Given the description of an element on the screen output the (x, y) to click on. 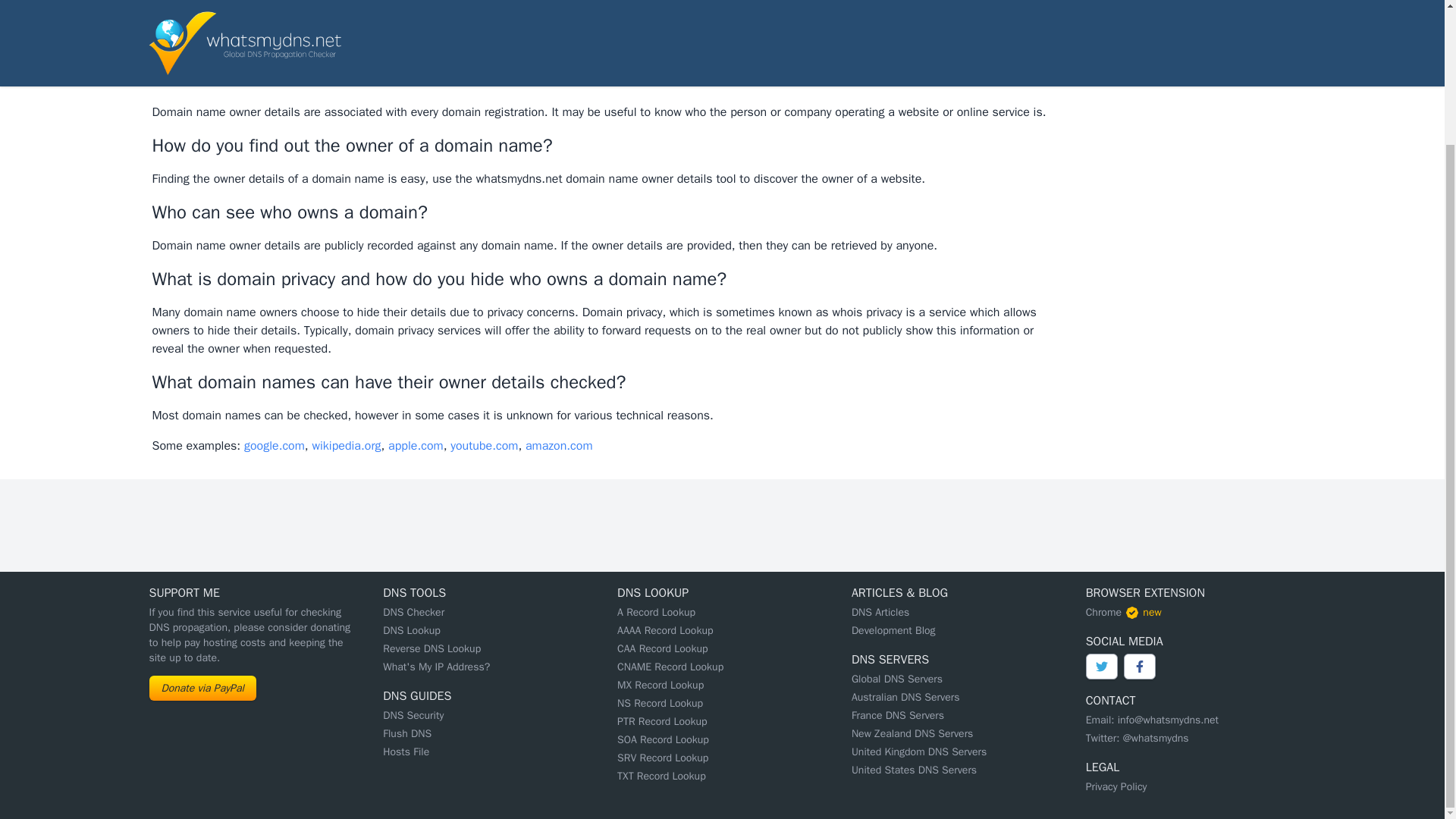
Expiration (233, 70)
DNS LOOKUP (652, 592)
Availability (393, 70)
Flush DNS (406, 733)
A Record Lookup (656, 612)
DNSSEC (595, 70)
Reverse DNS Lookup (431, 648)
amazon.com (558, 445)
NS Record Lookup (660, 703)
Development Blog (893, 630)
CNAME Record Lookup (670, 666)
DNS Checker (413, 612)
What's My IP Address? (435, 666)
Search (390, 29)
DNS Articles (879, 612)
